Given the description of an element on the screen output the (x, y) to click on. 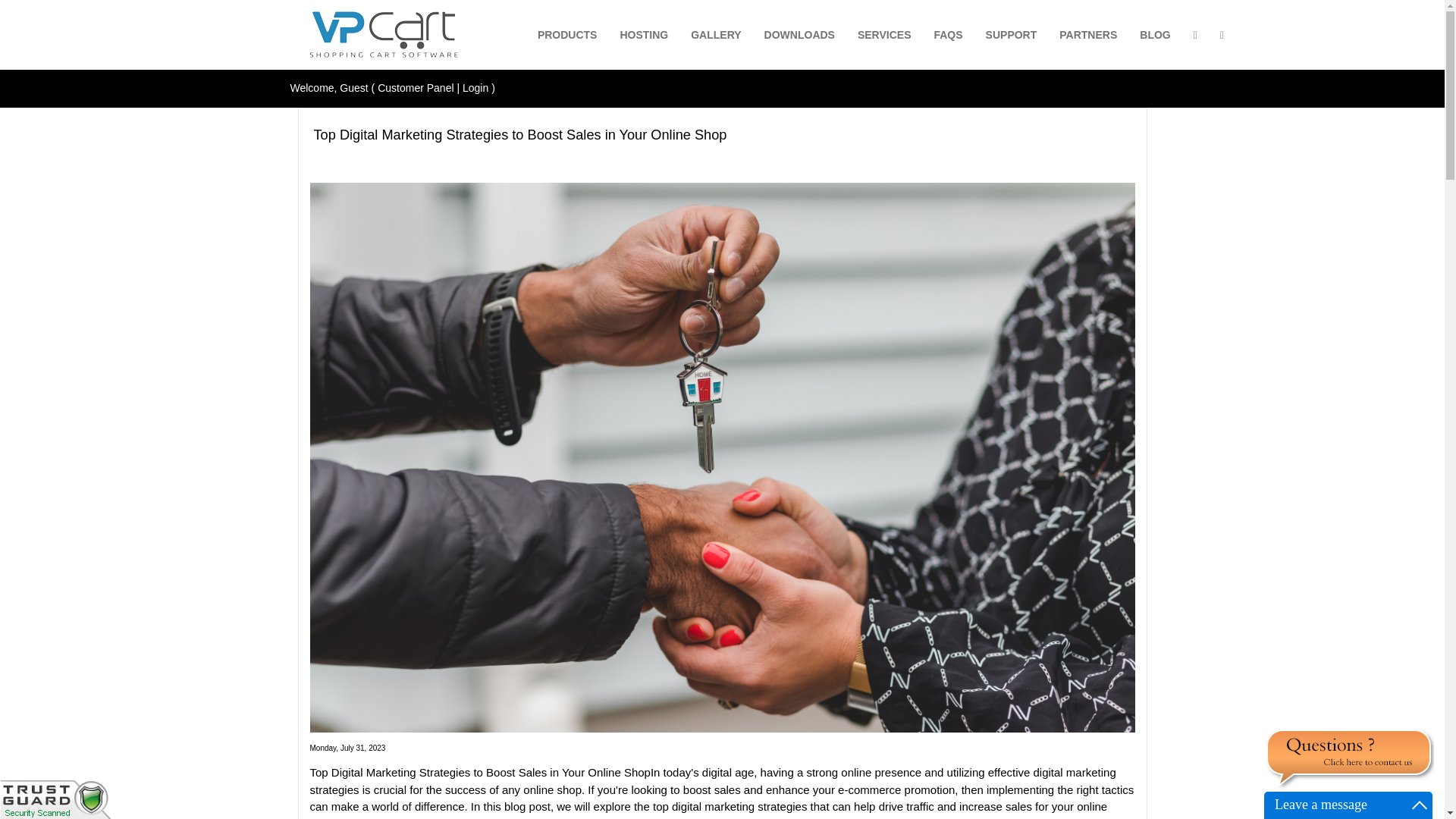
VPCart (383, 34)
VPCart (384, 34)
Maximize (1419, 805)
